Given the description of an element on the screen output the (x, y) to click on. 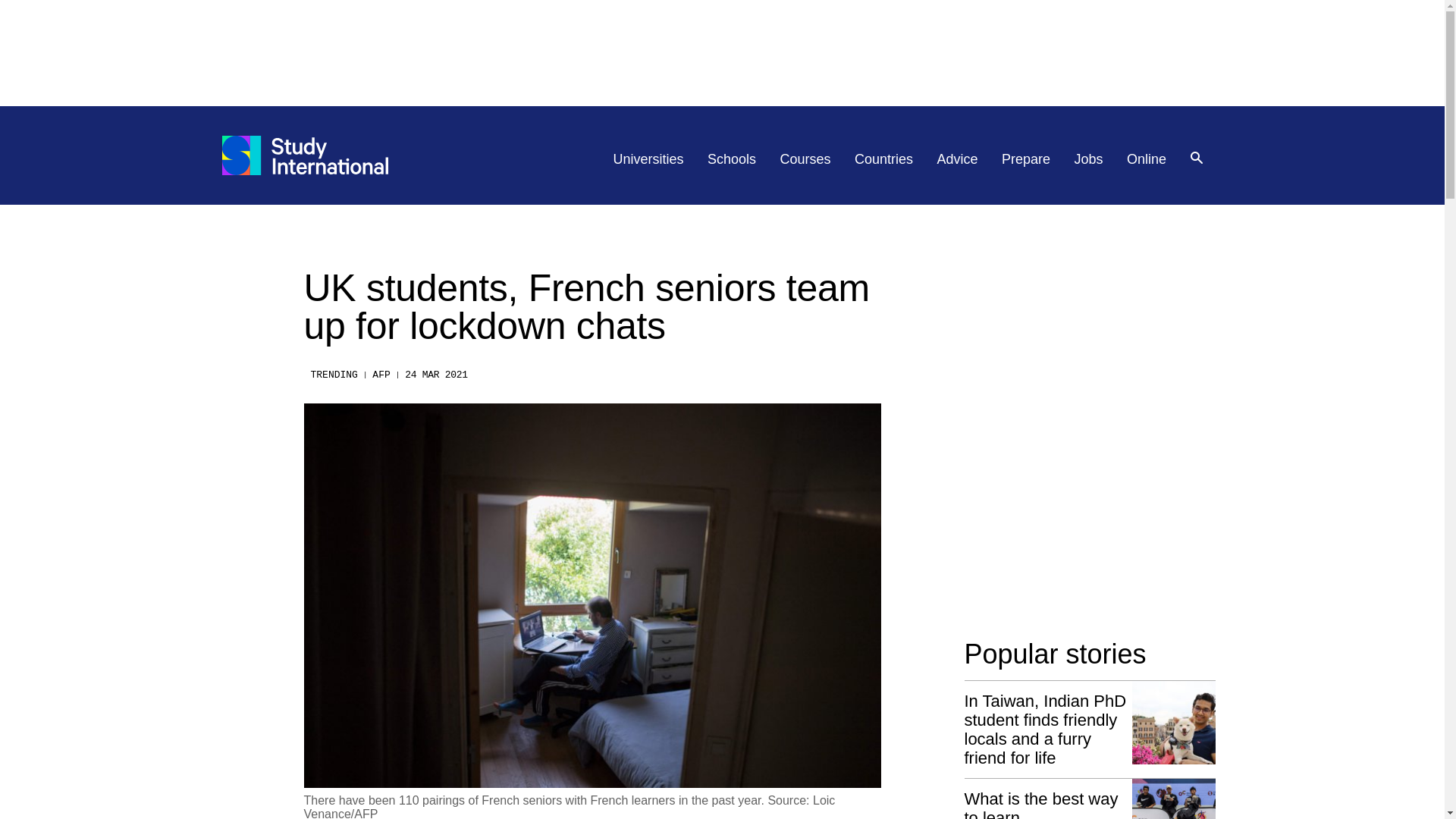
Jobs (1088, 159)
AFP (381, 374)
Countries (883, 159)
Universities (648, 159)
Courses (805, 159)
Schools (731, 159)
What is the best way to learn breakdancing? (1089, 798)
Prepare (1025, 159)
Advice (957, 159)
